Given the description of an element on the screen output the (x, y) to click on. 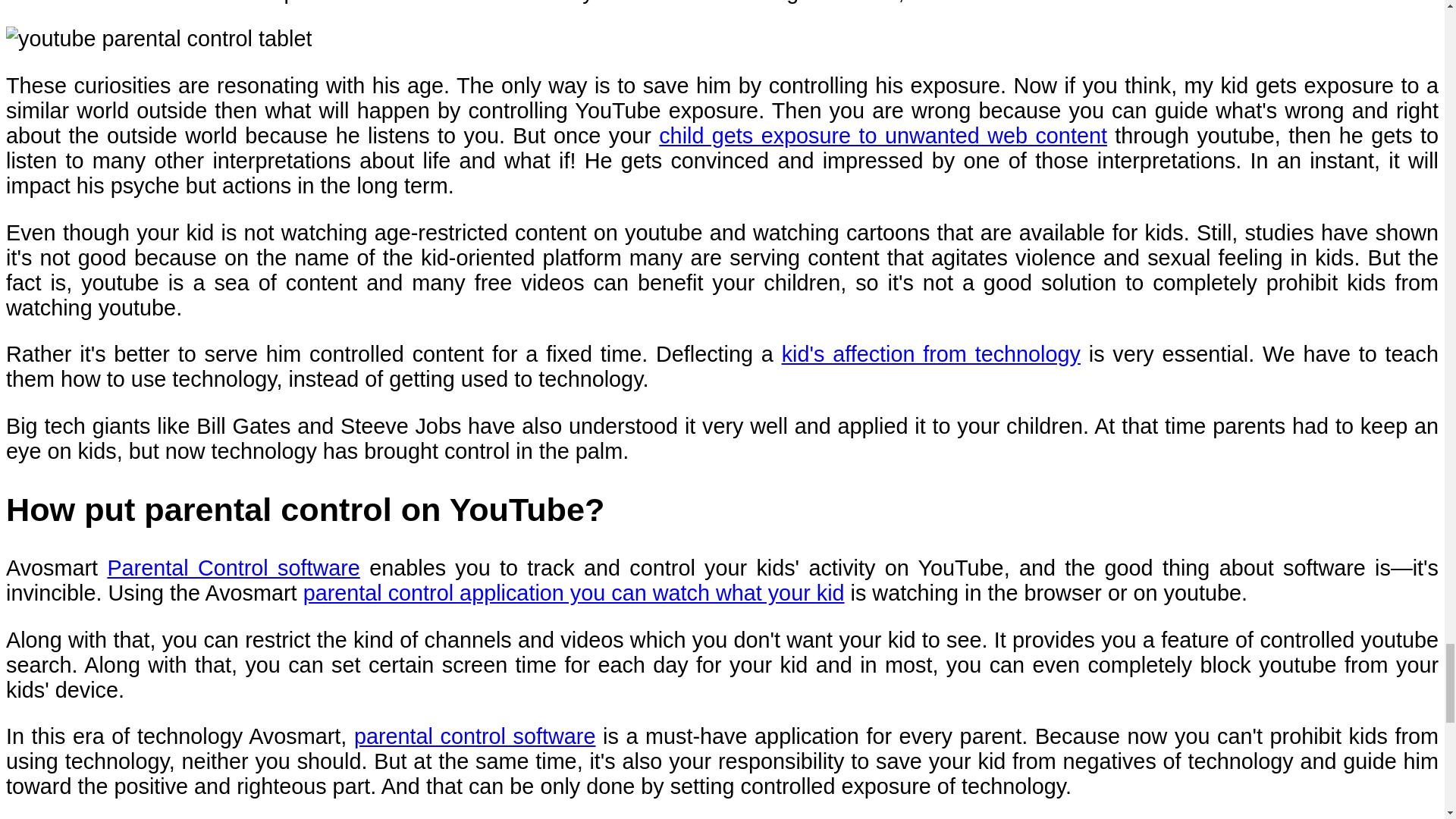
parental control application you can watch what your kid (573, 592)
kid's affection from technology (930, 354)
child gets exposure to unwanted web content (882, 135)
Parental Control software (232, 567)
parental control software (474, 735)
